Given the description of an element on the screen output the (x, y) to click on. 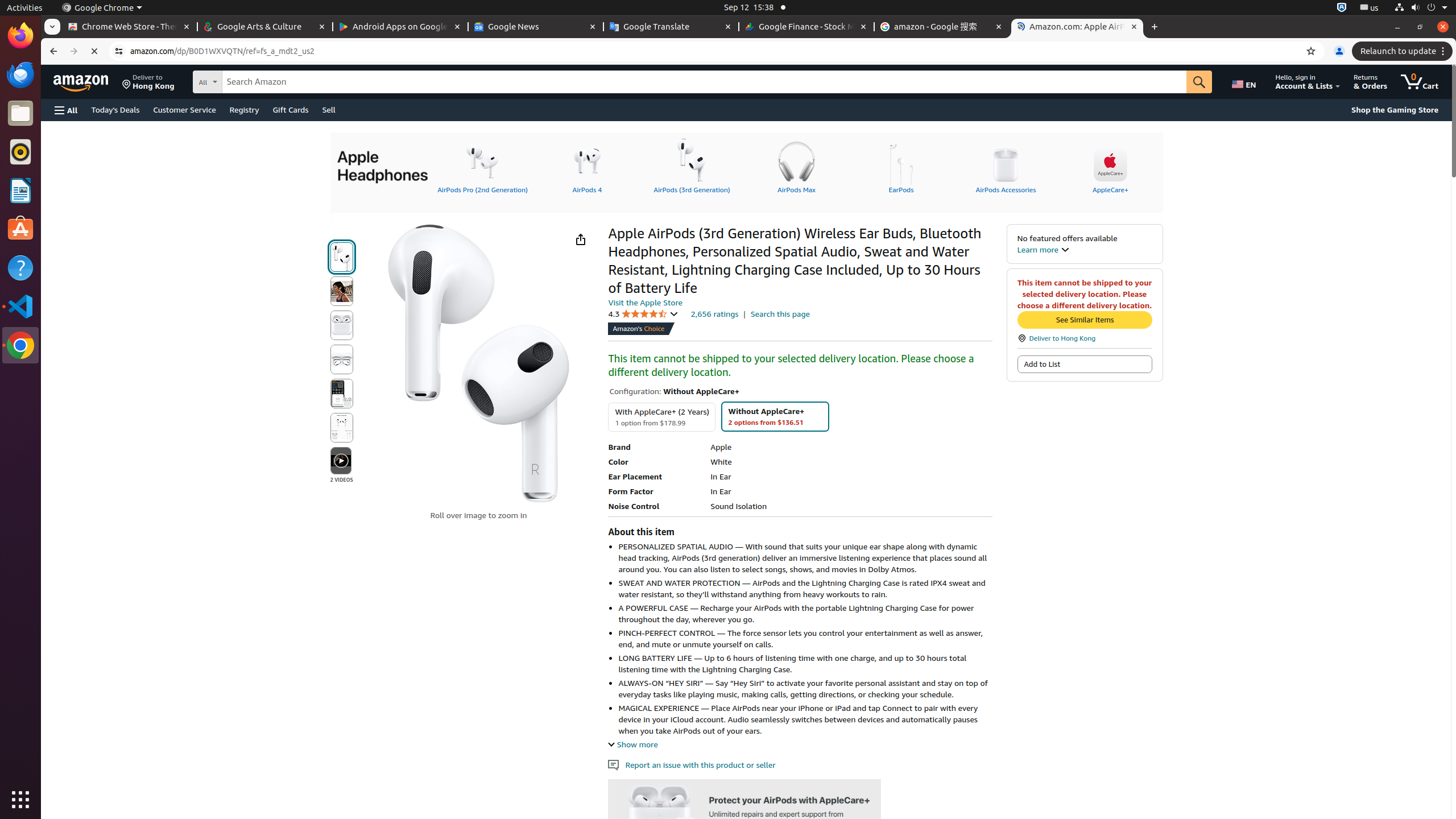
Google News - Memory usage - 49.2 MB Element type: page-tab (535, 26)
Android Apps on Google Play - Memory usage - 60.6 MB Element type: page-tab (400, 26)
Open Menu Element type: push-button (66, 109)
2,656 ratings Element type: link (714, 313)
:1.21/StatusNotifierItem Element type: menu (1369, 7)
